Given the description of an element on the screen output the (x, y) to click on. 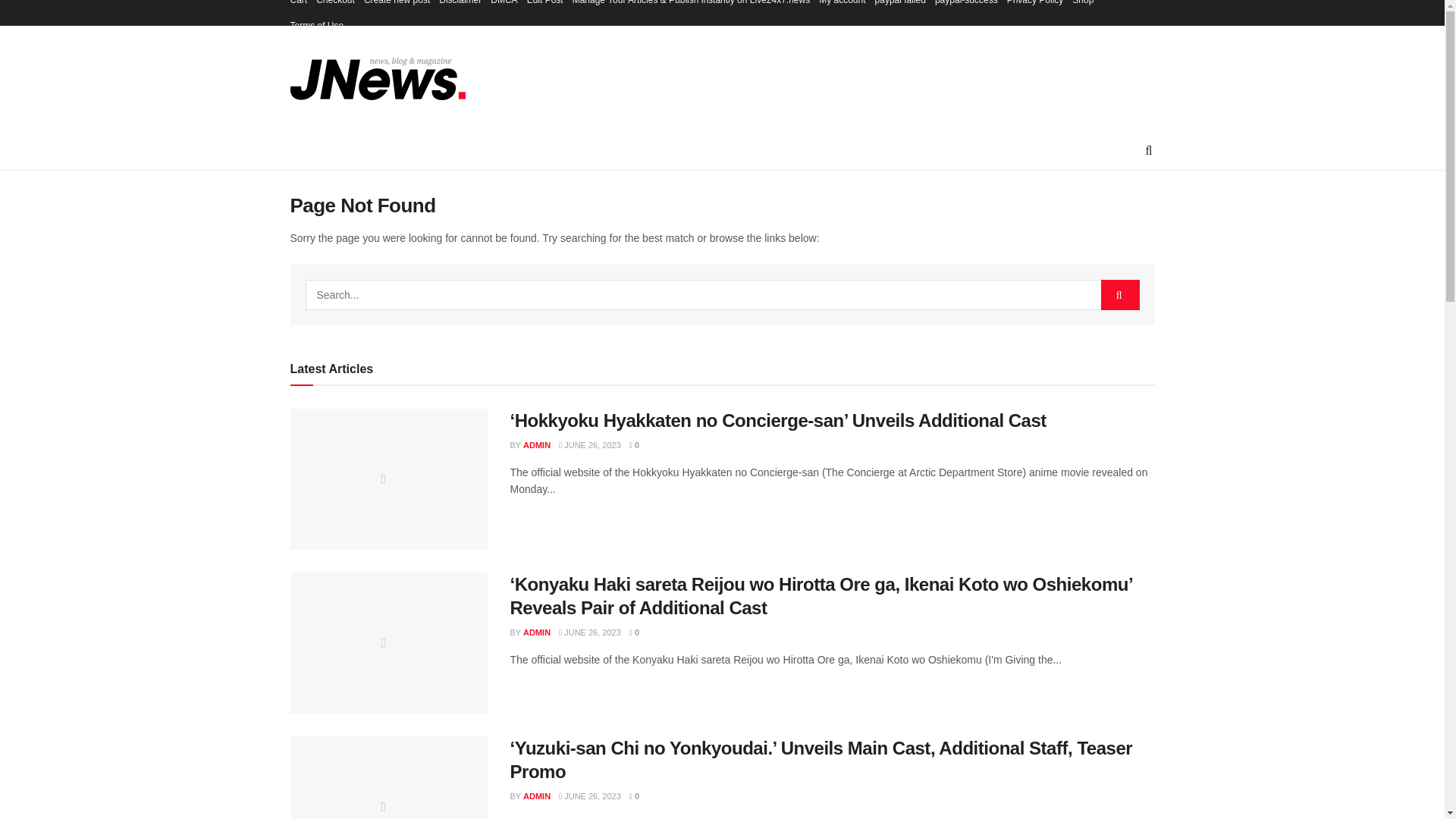
Disclaimer (460, 6)
Create new post (396, 6)
paypal failed (900, 6)
DMCA (503, 6)
Cart (298, 6)
Shop (1082, 6)
Privacy Policy (1035, 6)
Checkout (335, 6)
Edit Post (545, 6)
My account (841, 6)
paypal-success (965, 6)
Terms of Use (316, 25)
